Given the description of an element on the screen output the (x, y) to click on. 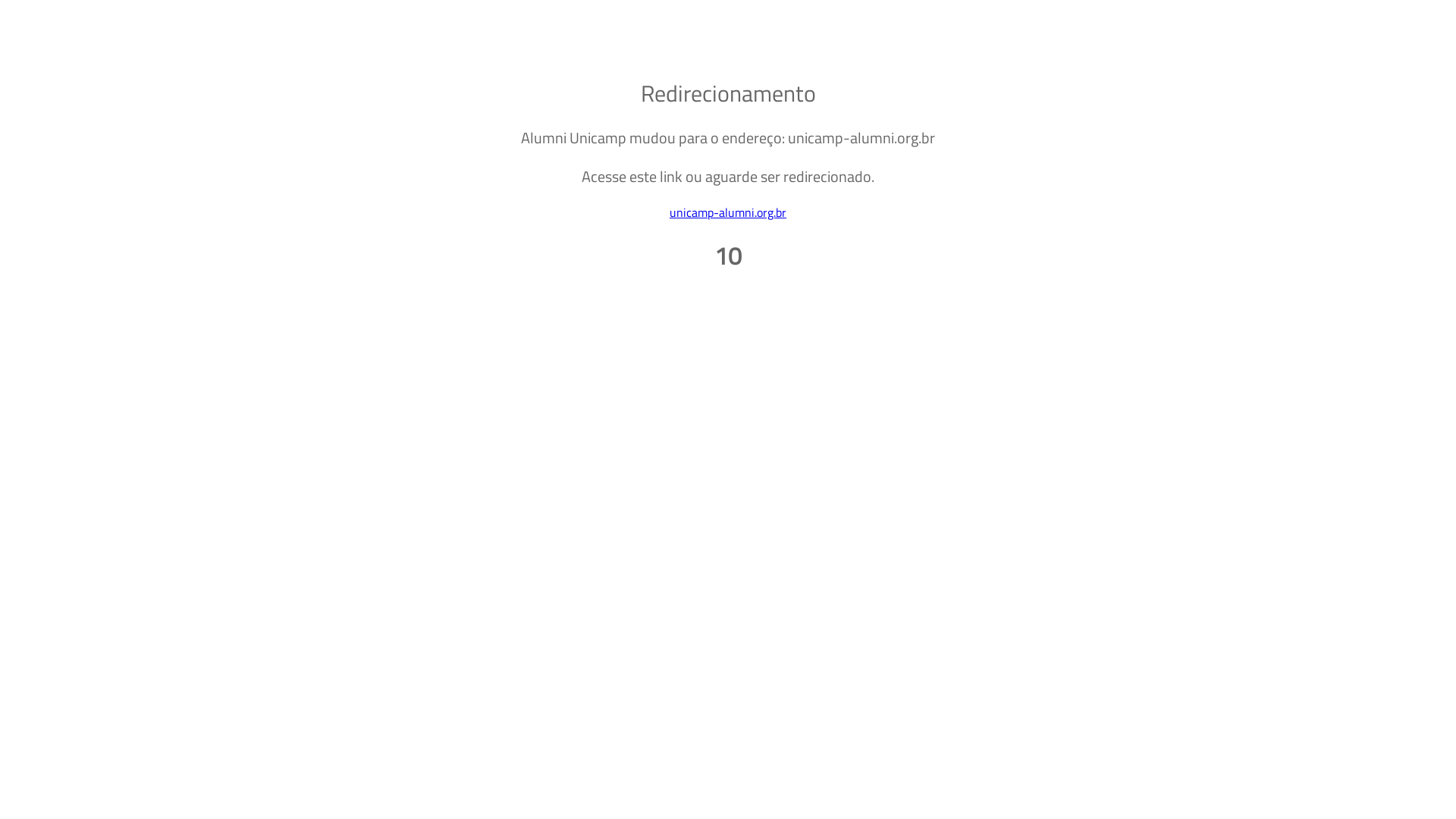
unicamp-alumni.org.br Element type: text (727, 212)
